Given the description of an element on the screen output the (x, y) to click on. 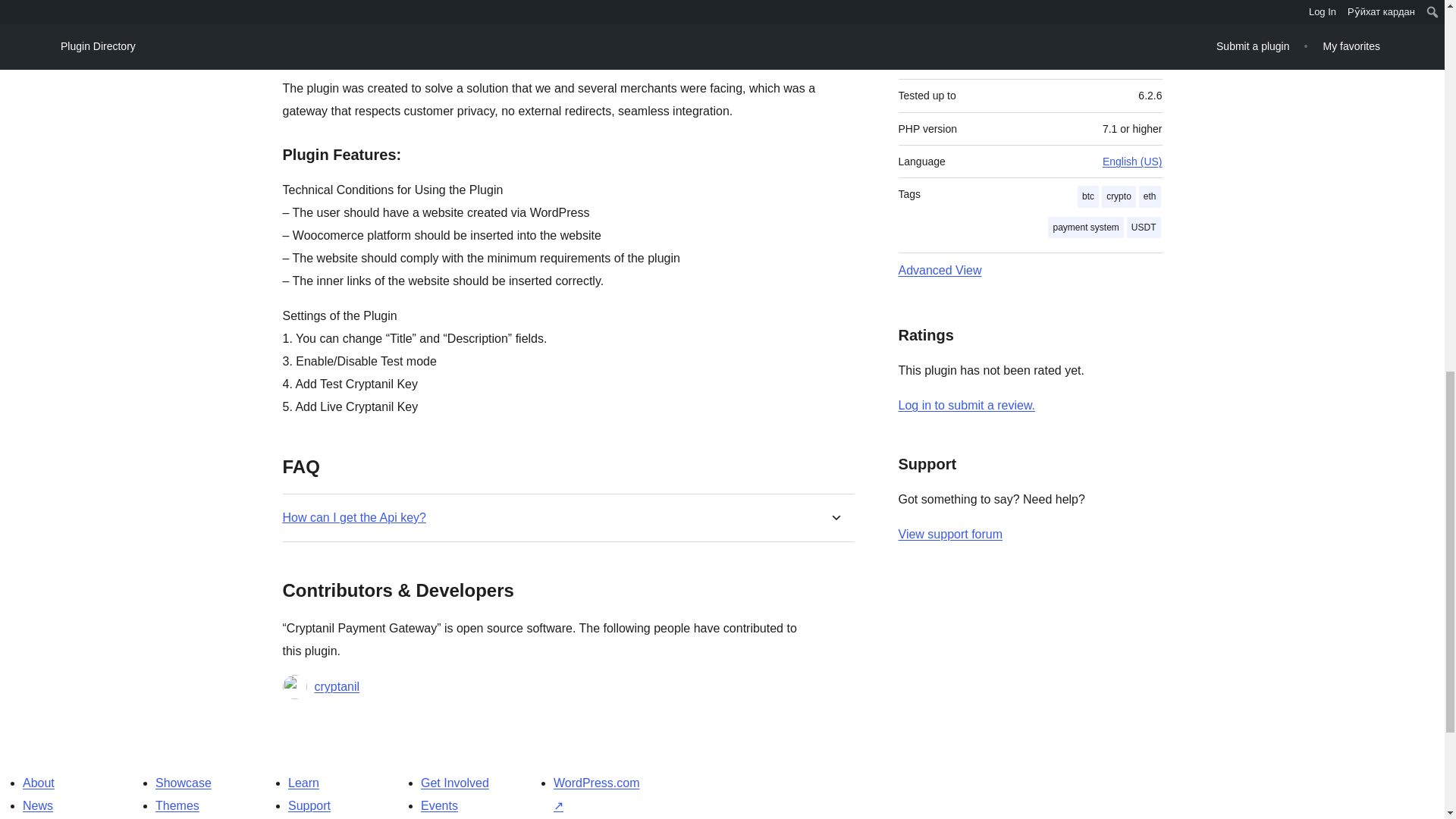
How can I get the Api key? (353, 517)
Log in to WordPress.org (966, 404)
cryptanil (336, 686)
